Given the description of an element on the screen output the (x, y) to click on. 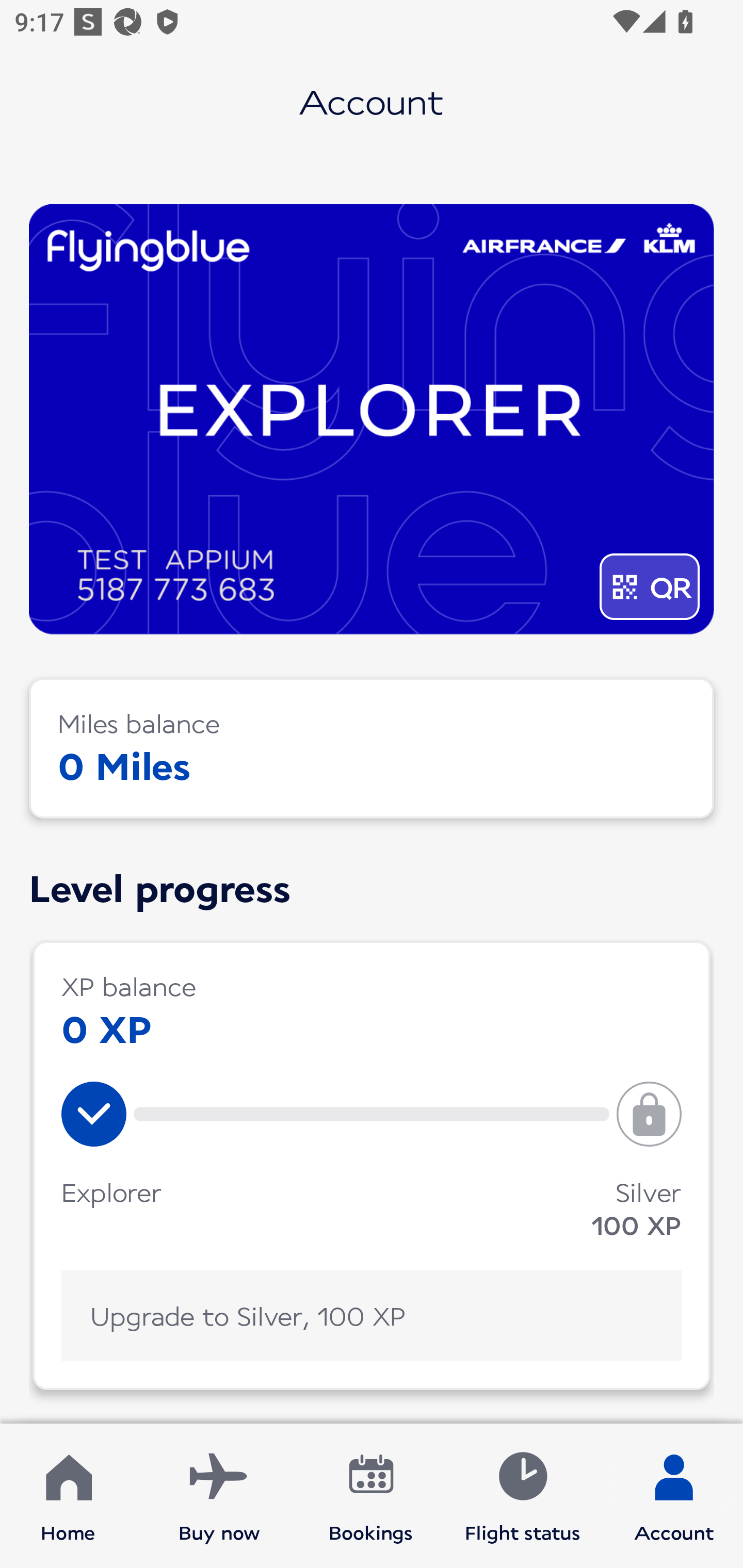
Miles balance 0 Miles (371, 747)
Home (68, 1495)
Buy now (219, 1495)
Bookings (370, 1495)
Flight status (522, 1495)
